Given the description of an element on the screen output the (x, y) to click on. 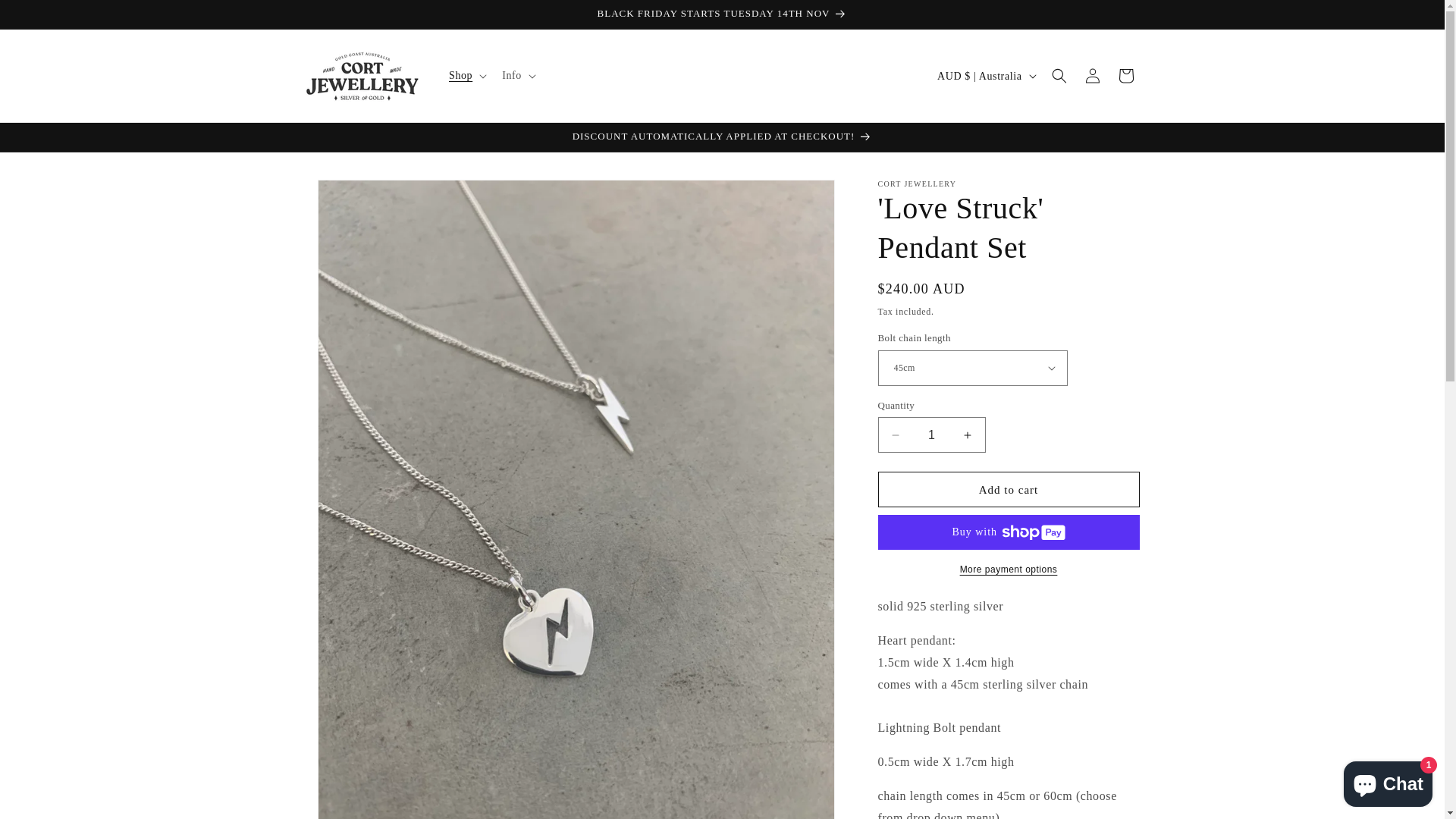
Increase quantity for &#39;Love Struck&#39; Pendant Set Element type: text (967, 434)
More payment options Element type: text (1008, 569)
Add to cart Element type: text (1008, 489)
BLACK FRIDAY STARTS TUESDAY 14TH NOV Element type: text (721, 14)
DISCOUNT AUTOMATICALLY APPLIED AT CHECKOUT! Element type: text (721, 136)
Cart Element type: text (1125, 75)
Decrease quantity for &#39;Love Struck&#39; Pendant Set Element type: text (895, 434)
AUD $ | Australia Element type: text (984, 75)
Log in Element type: text (1091, 75)
Shopify online store chat Element type: hover (1388, 780)
Skip to product information Element type: text (350, 196)
